Given the description of an element on the screen output the (x, y) to click on. 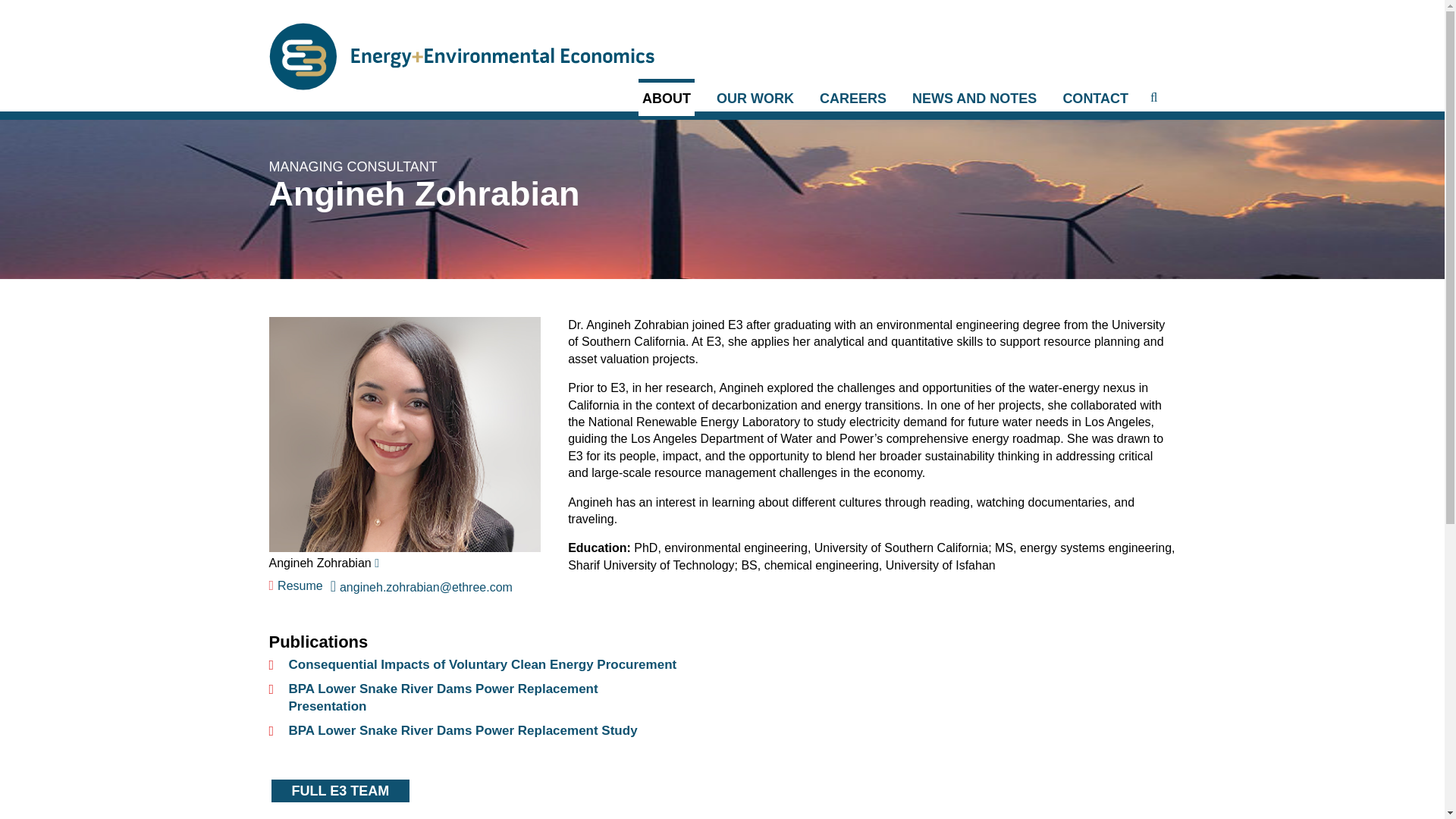
CAREERS (852, 99)
FULL E3 TEAM (339, 791)
NEWS AND NOTES (974, 99)
BPA Lower Snake River Dams Power Replacement Presentation (442, 697)
CONTACT (1095, 99)
Consequential Impacts of Voluntary Clean Energy Procurement (482, 664)
ABOUT (666, 97)
BPA Lower Snake River Dams Power Replacement Study (462, 730)
OUR WORK (755, 99)
Resume (298, 585)
